Given the description of an element on the screen output the (x, y) to click on. 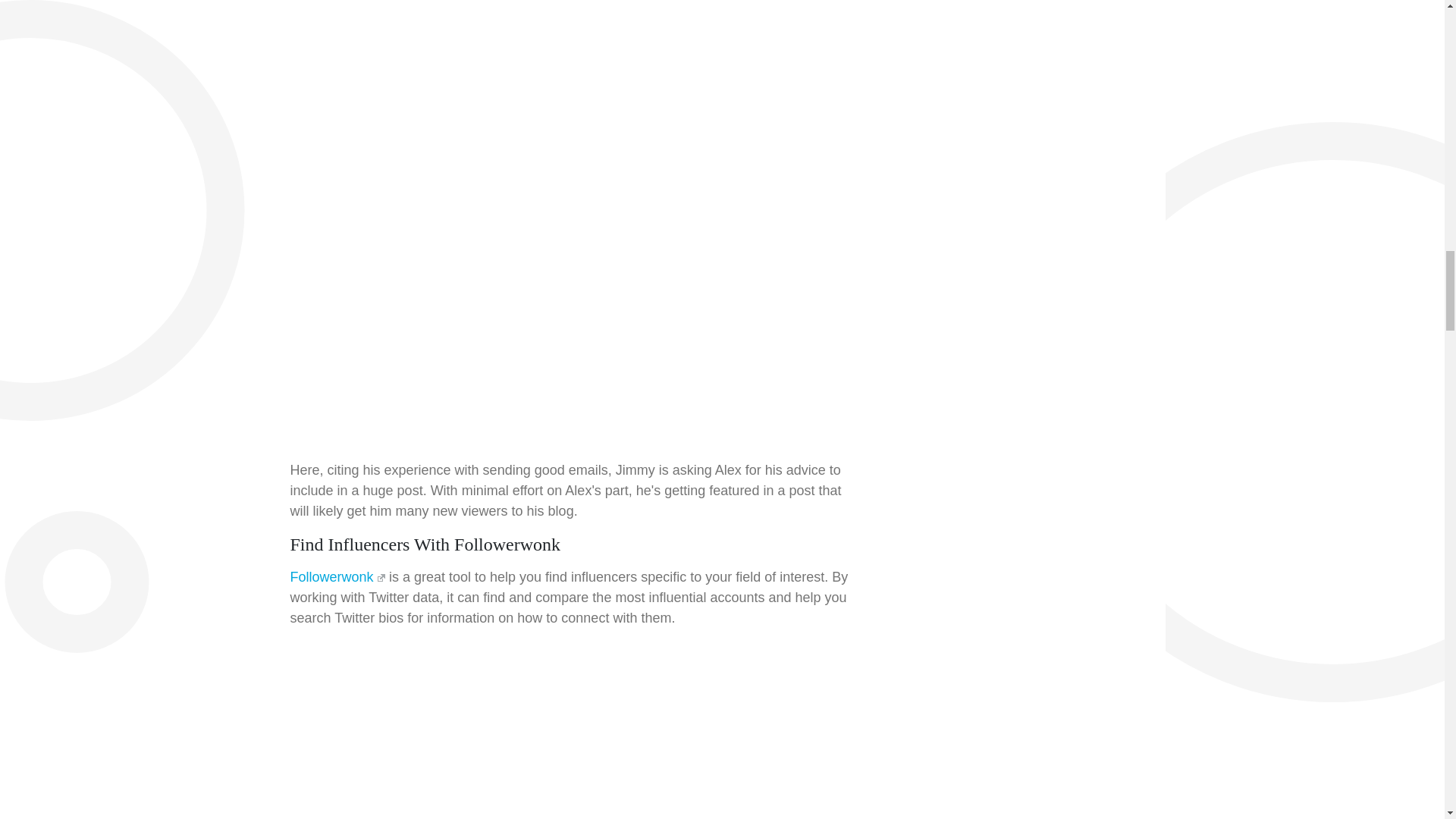
Followerwonk (336, 576)
